Given the description of an element on the screen output the (x, y) to click on. 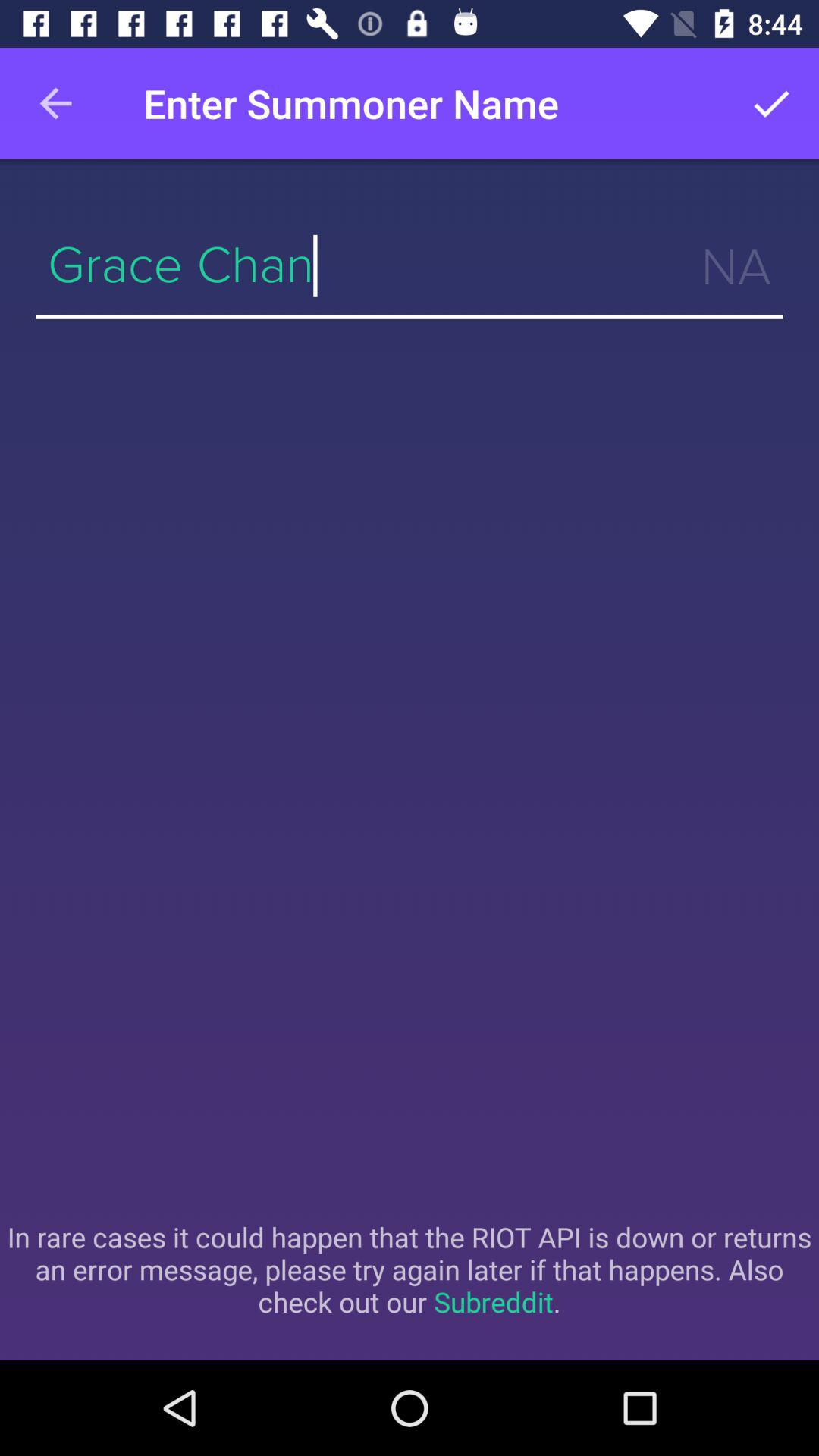
turn off icon above the in rare cases icon (409, 265)
